Given the description of an element on the screen output the (x, y) to click on. 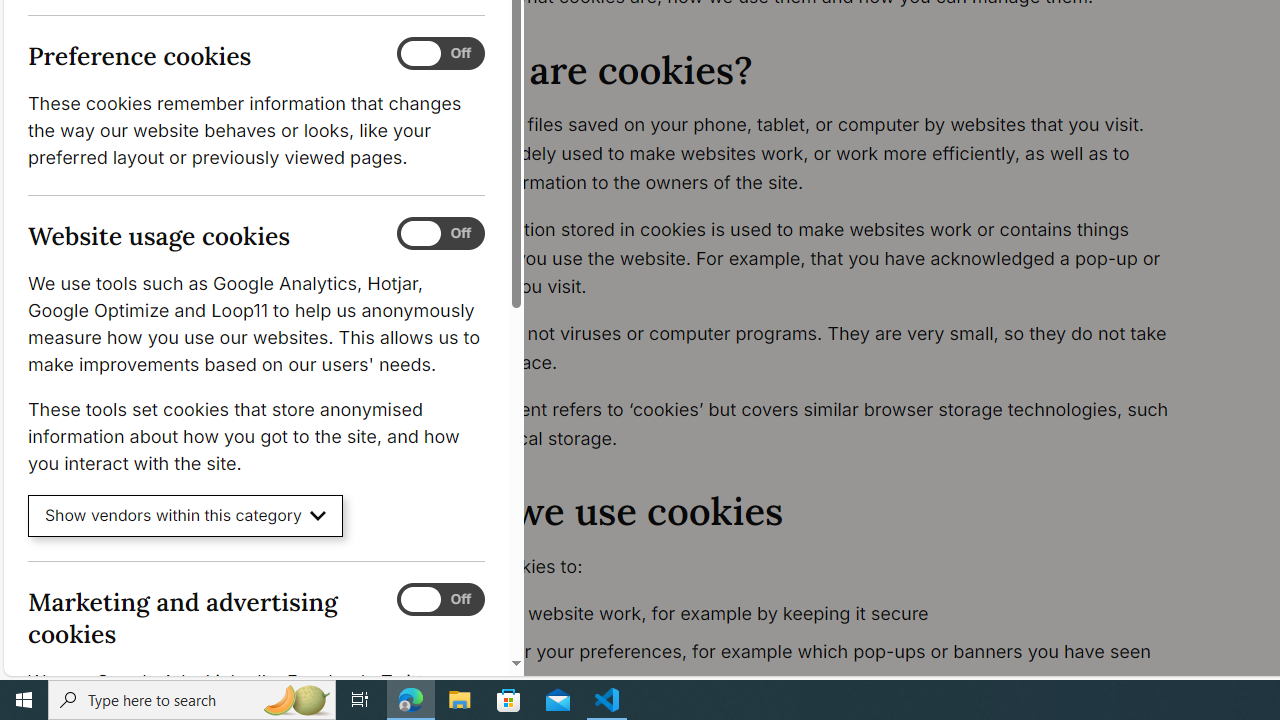
Marketing and advertising cookies (440, 599)
Show vendors within this category (185, 516)
Preference cookies (440, 53)
make our website work, for example by keeping it secure (818, 614)
Website usage cookies (440, 233)
